Given the description of an element on the screen output the (x, y) to click on. 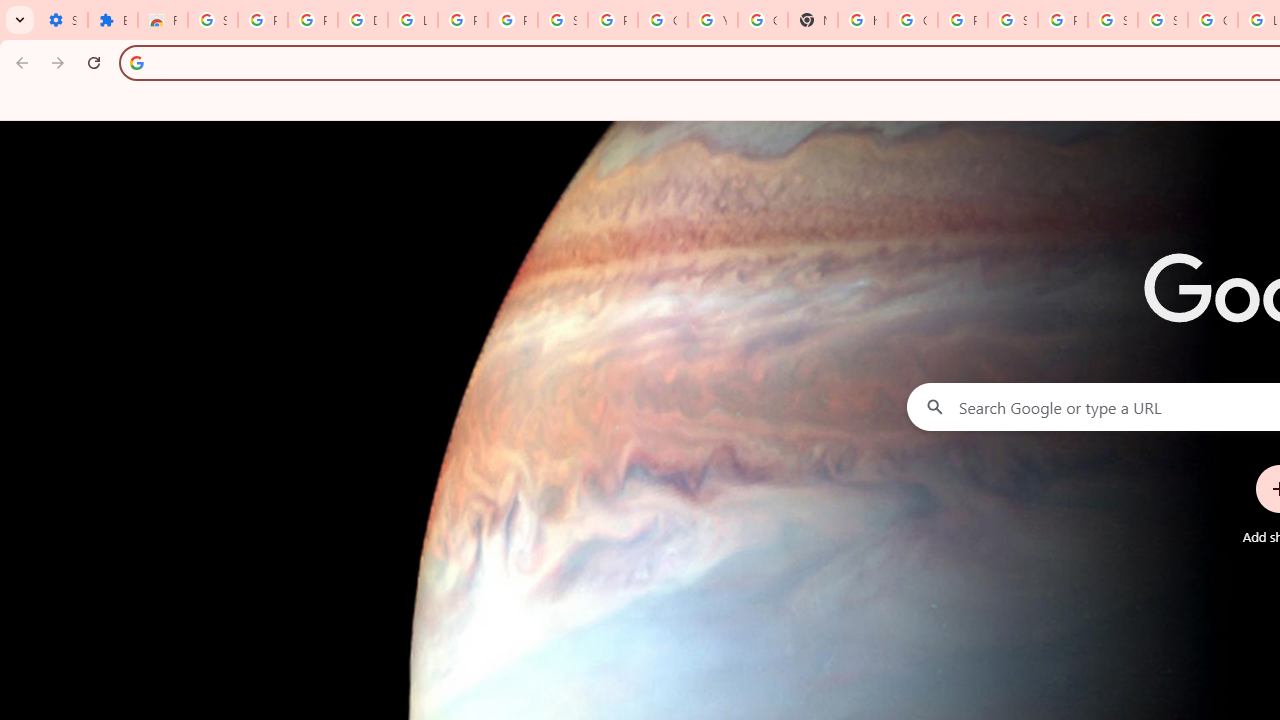
New Tab (813, 20)
Sign in - Google Accounts (1013, 20)
Reload (93, 62)
System (10, 11)
Extensions (113, 20)
Sign in - Google Accounts (562, 20)
Forward (57, 62)
Back (19, 62)
Sign in - Google Accounts (1112, 20)
Learn how to find your photos - Google Photos Help (412, 20)
Search icon (136, 62)
